Given the description of an element on the screen output the (x, y) to click on. 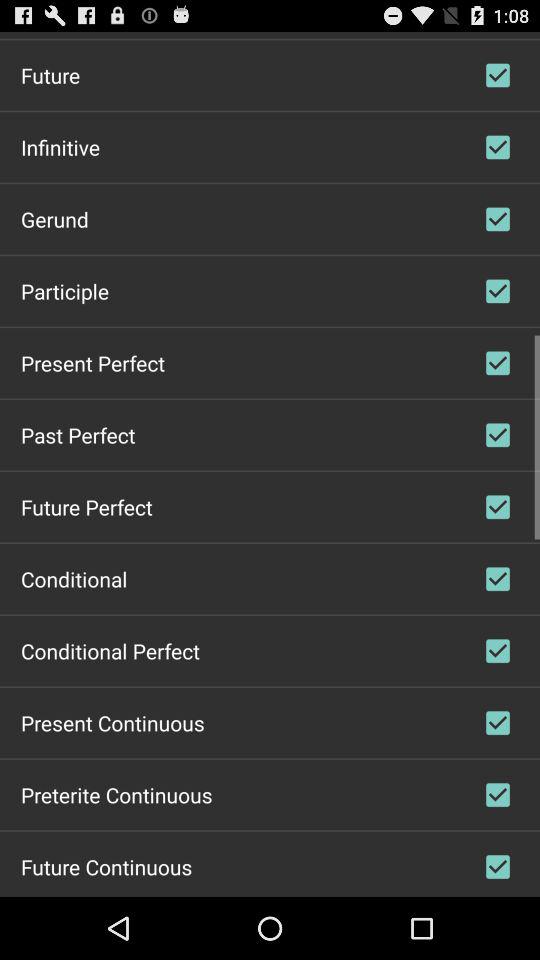
click the future continuous item (106, 866)
